Given the description of an element on the screen output the (x, y) to click on. 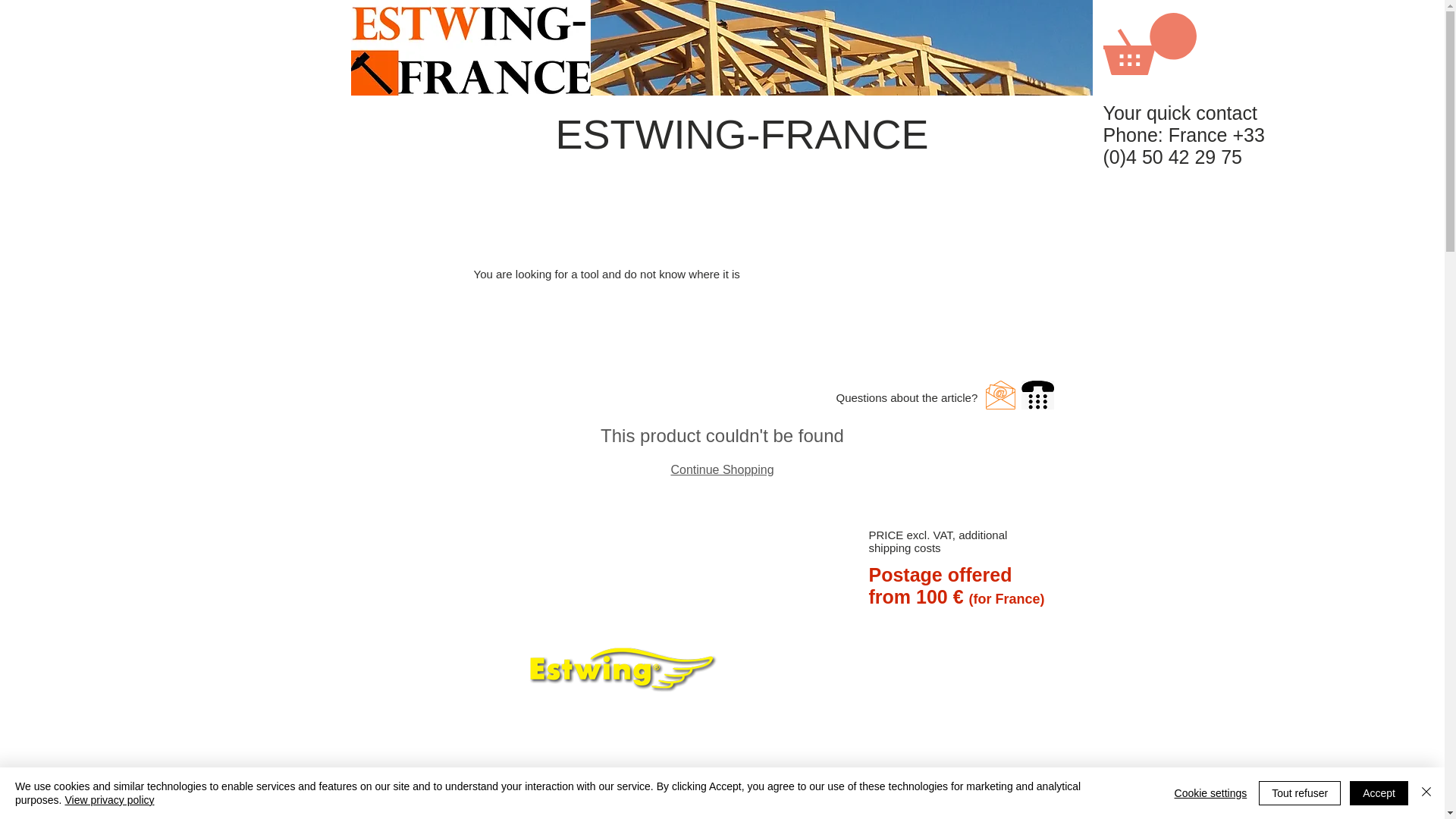
Continue Shopping (721, 469)
Architecture-bois (764, 47)
ESTWING-FRANCE (741, 134)
Questions about the article? (905, 397)
